Given the description of an element on the screen output the (x, y) to click on. 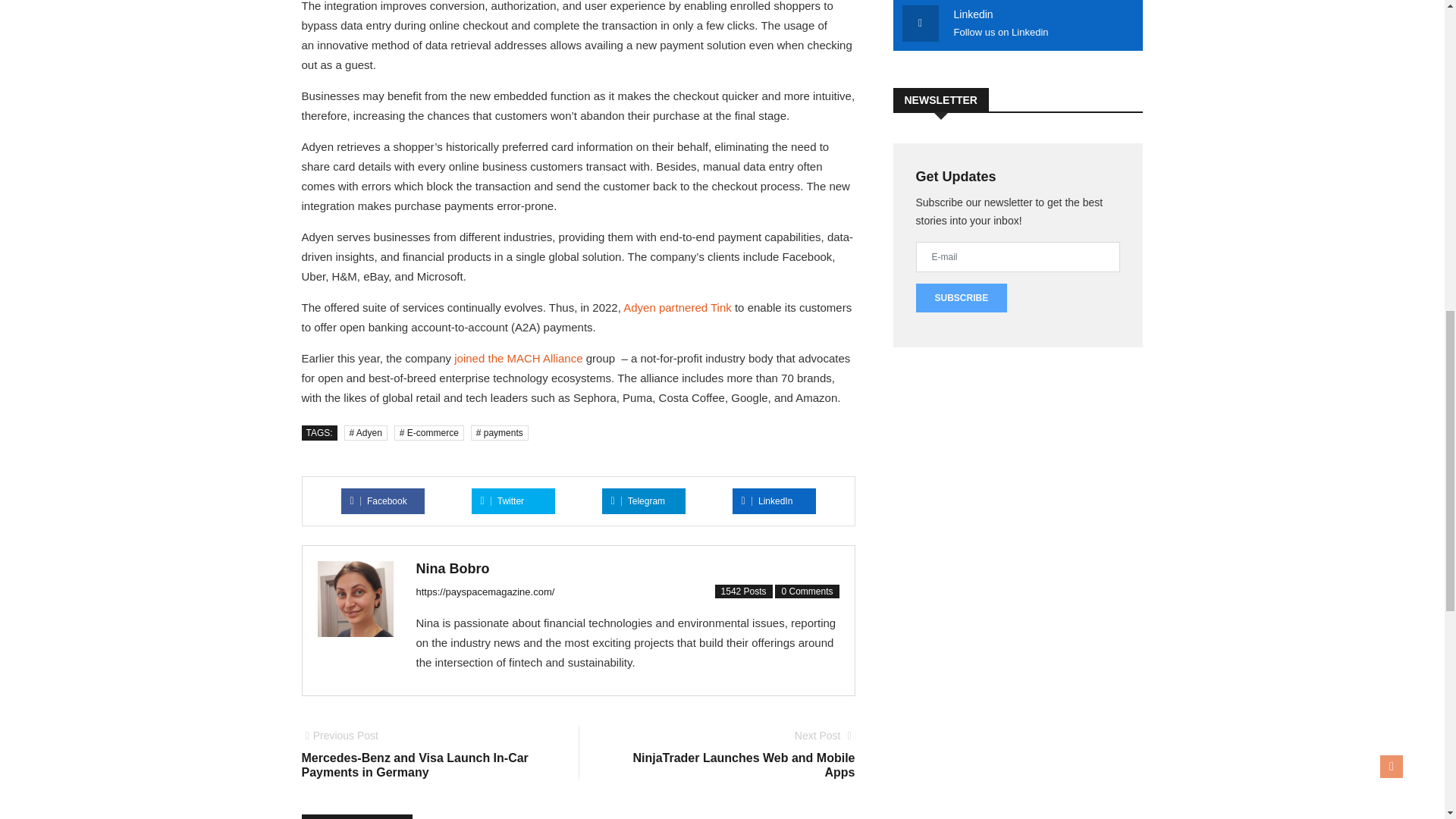
LinkedIn (767, 501)
Adyen partnered Tink (677, 307)
Telegram (733, 754)
Facebook (638, 501)
joined the MACH Alliance (378, 501)
Twitter (518, 358)
